Given the description of an element on the screen output the (x, y) to click on. 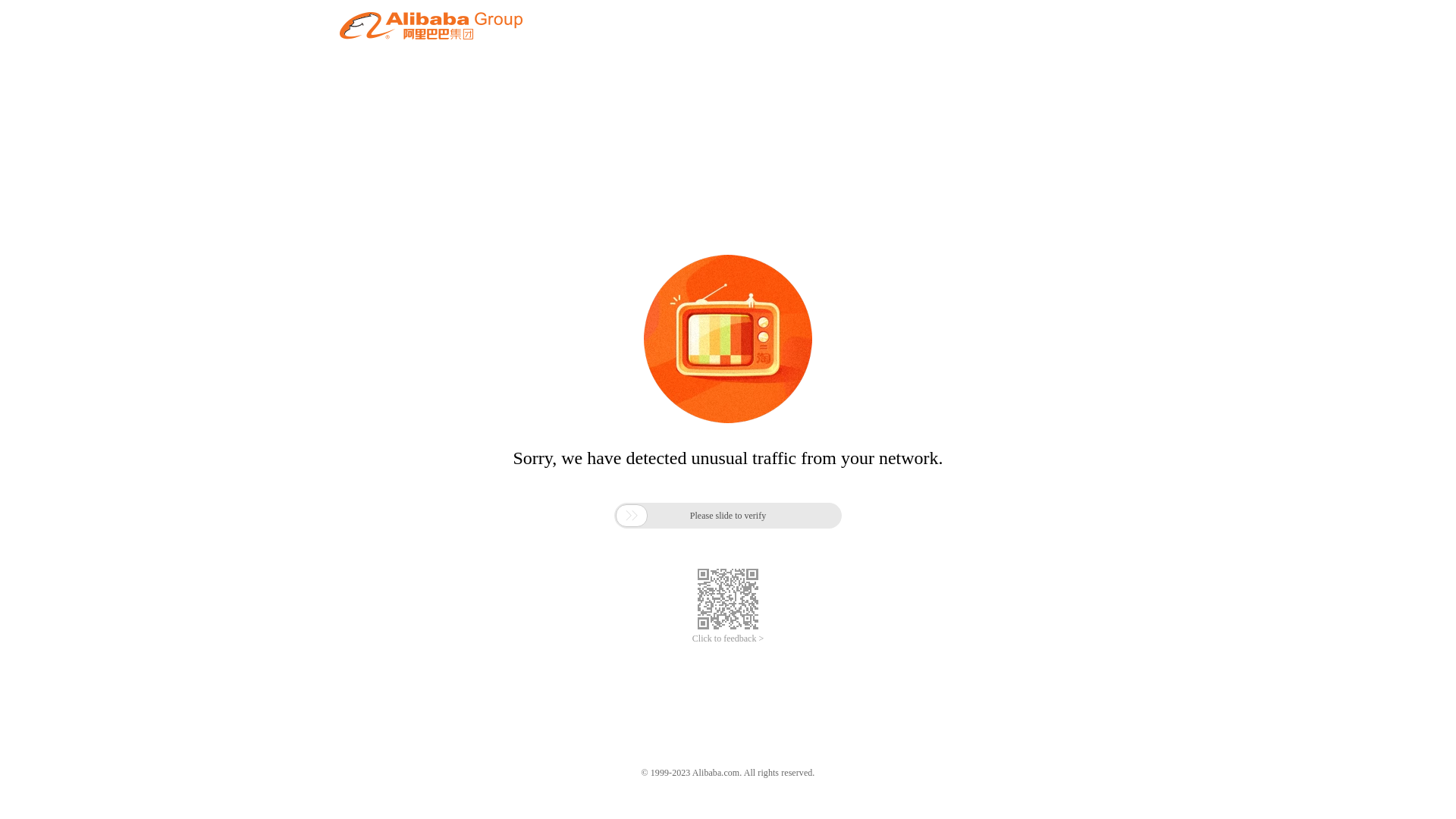
Click to feedback > Element type: text (727, 638)
